Given the description of an element on the screen output the (x, y) to click on. 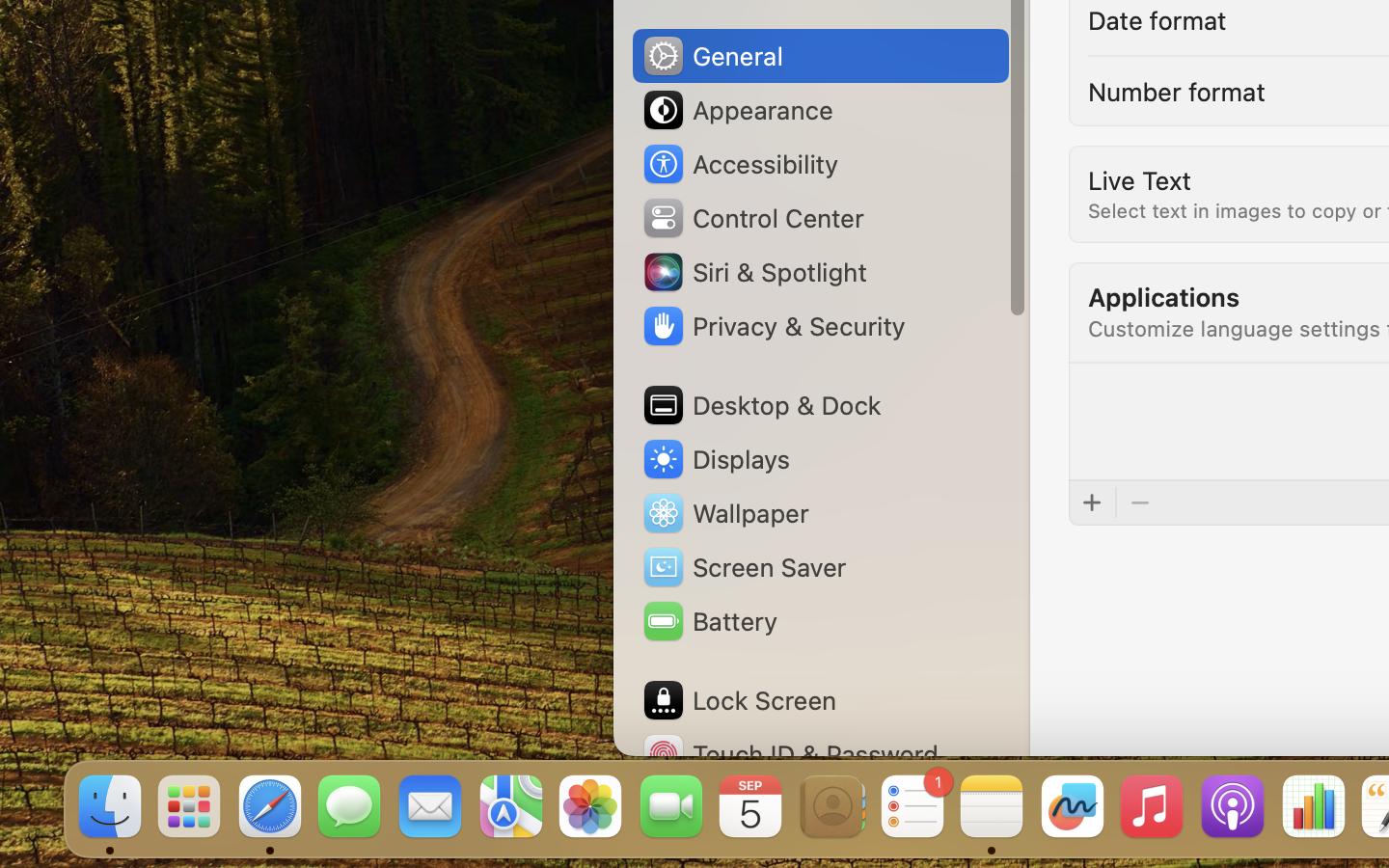
Displays Element type: AXStaticText (715, 458)
Siri & Spotlight Element type: AXStaticText (753, 271)
Desktop & Dock Element type: AXStaticText (760, 404)
Touch ID & Password Element type: AXStaticText (789, 754)
Control Center Element type: AXStaticText (752, 217)
